Given the description of an element on the screen output the (x, y) to click on. 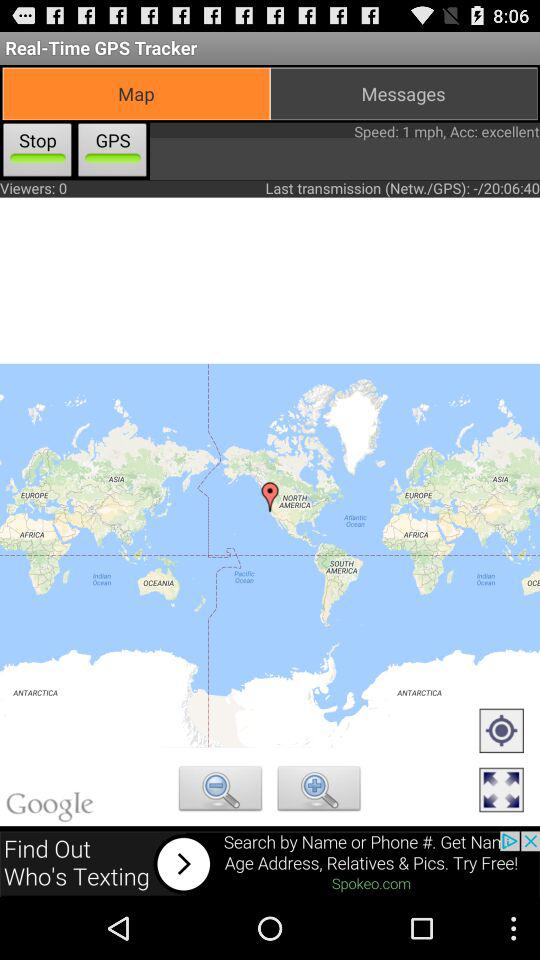
zoom in (319, 791)
